Given the description of an element on the screen output the (x, y) to click on. 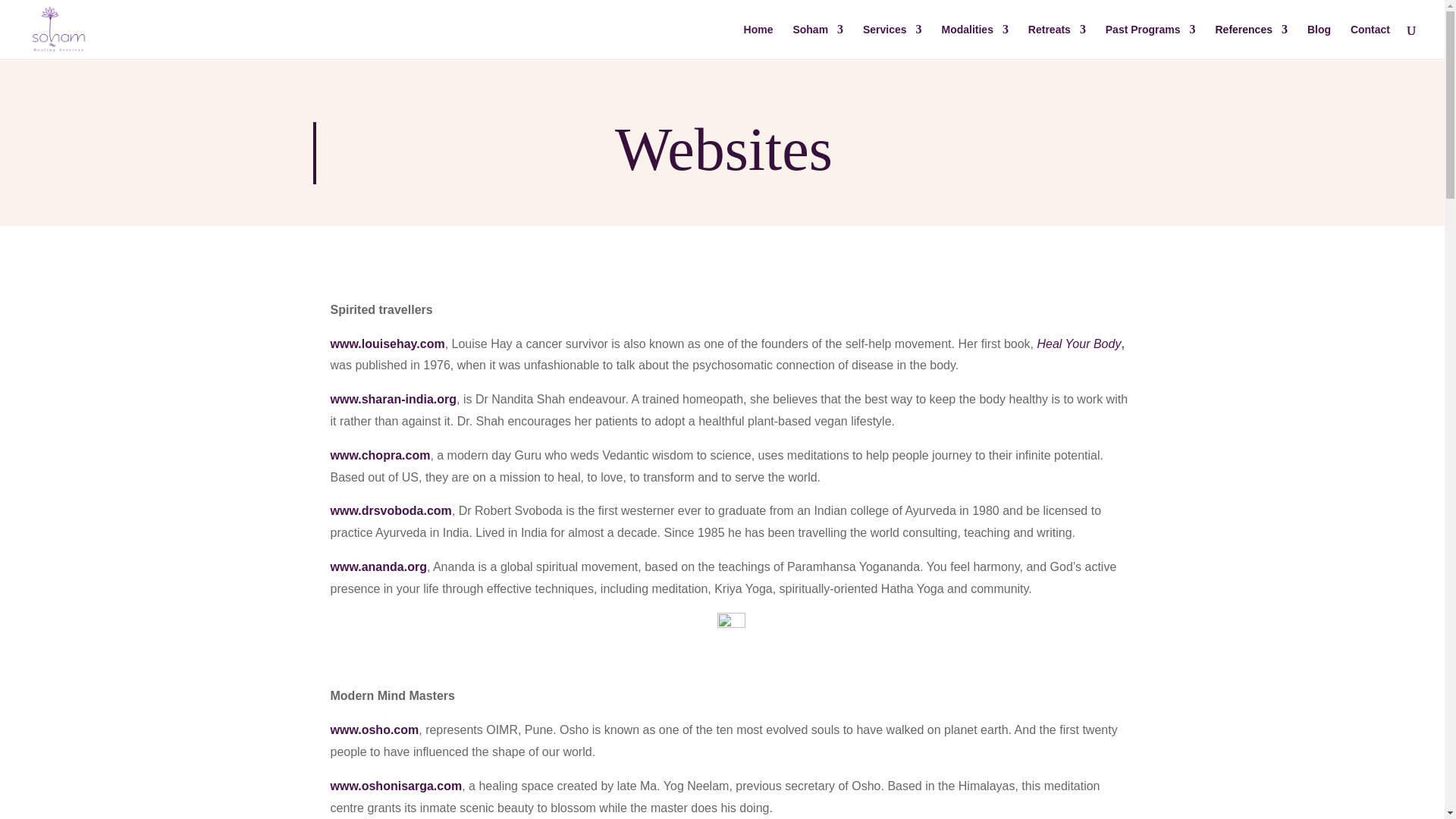
www.sharan-india.org (393, 399)
Modalities (973, 41)
Soham (817, 41)
Contact (1370, 41)
Services (892, 41)
References (1250, 41)
Heal Your Body (1078, 343)
Retreats (1056, 41)
Past Programs (1150, 41)
www.louisehay.com (387, 343)
